Given the description of an element on the screen output the (x, y) to click on. 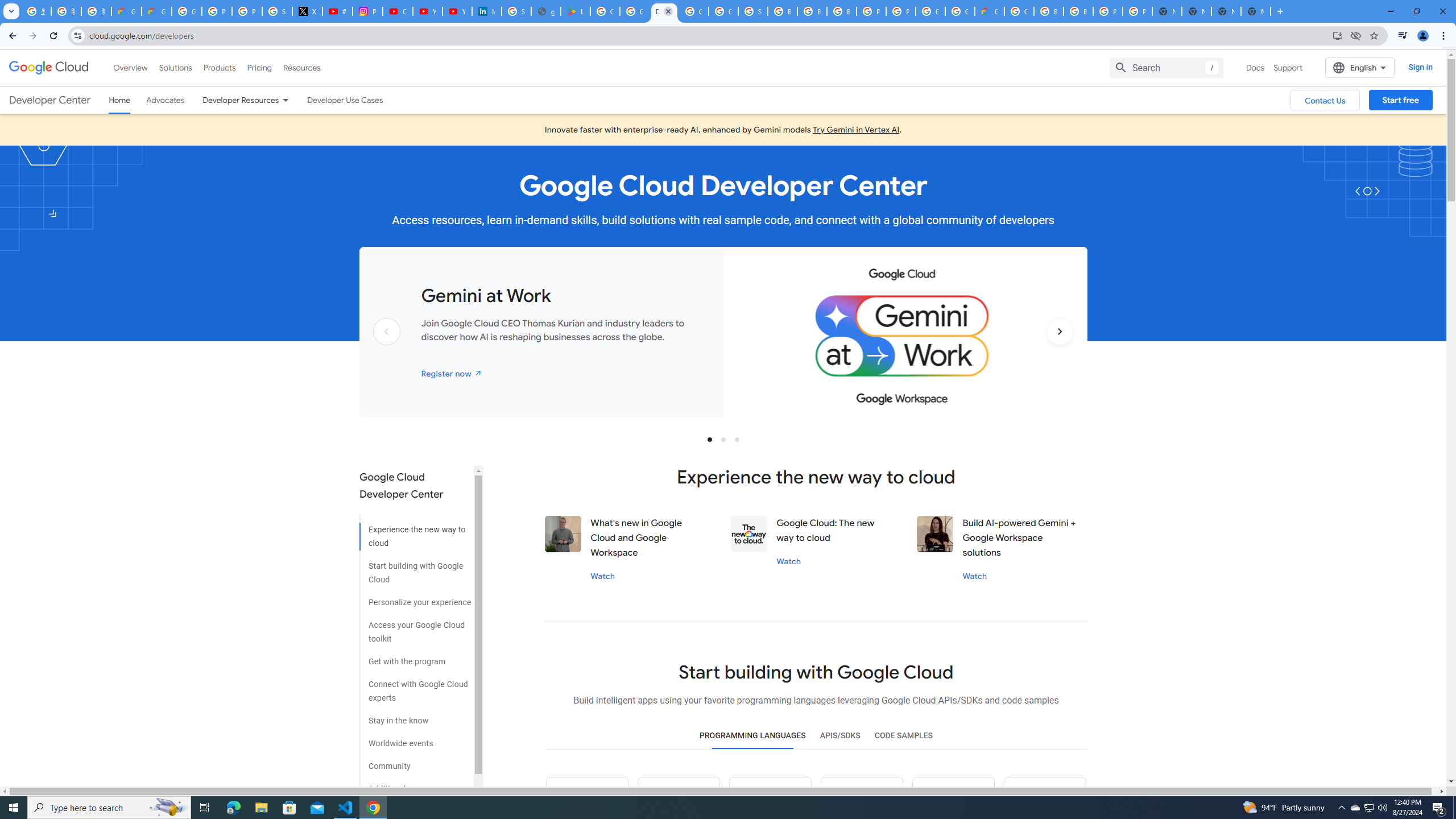
PROGRAMMING LANGUAGES (752, 735)
Dot net icon (952, 798)
YouTube Culture & Trends - YouTube Top 10, 2021 (456, 11)
Slide 1 (709, 438)
APIS/SDKS (839, 735)
Browse Chrome as a guest - Computer - Google Chrome Help (782, 11)
Community (415, 762)
Dropdown menu for Developer Resources (285, 99)
Sign in - Google Accounts (515, 11)
Support (1288, 67)
